Given the description of an element on the screen output the (x, y) to click on. 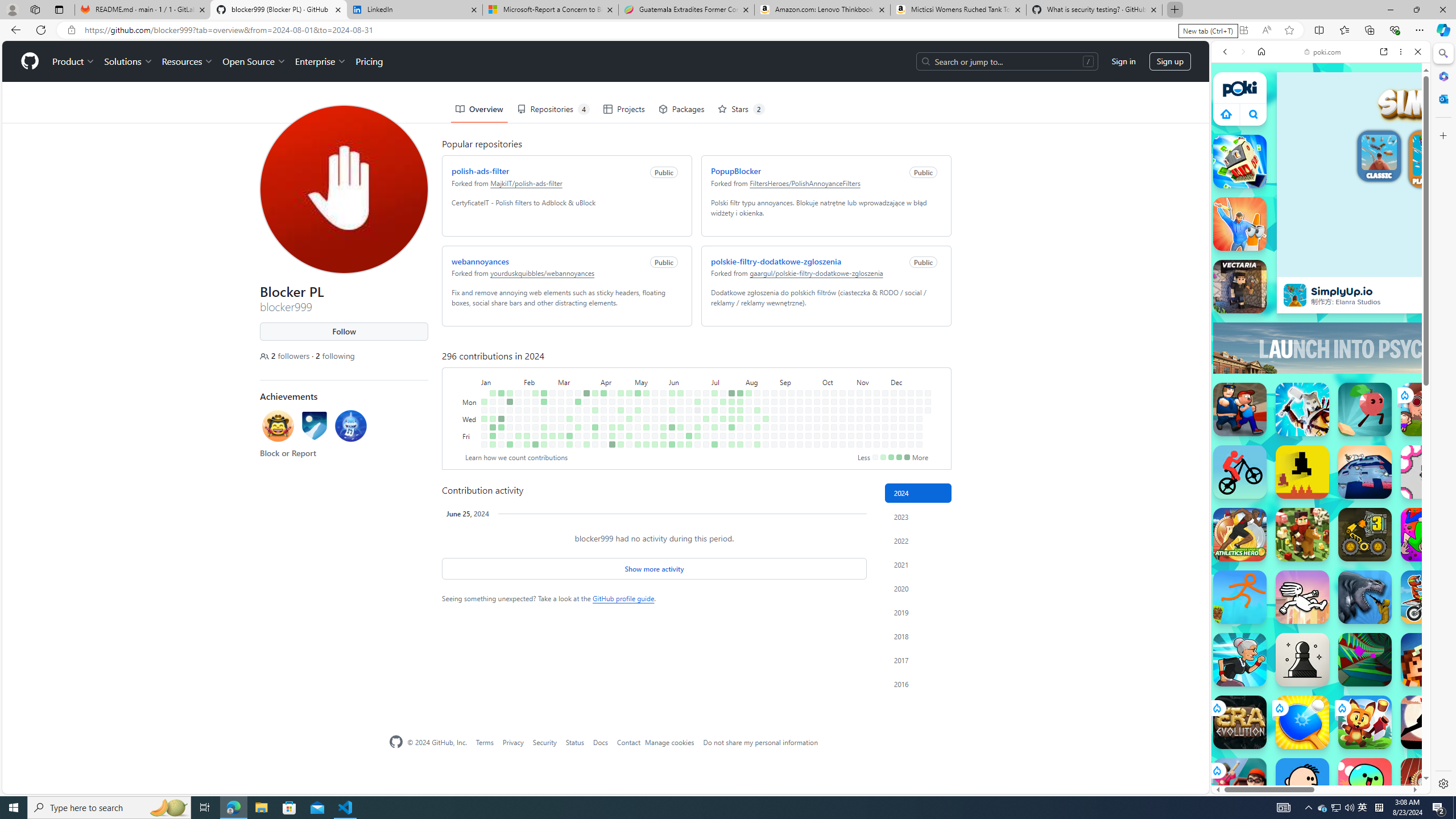
2 contributions on January 21st. (509, 392)
No contributions on July 6th. (706, 444)
No contributions on April 1st. (595, 401)
3 contributions on June 27th. (697, 427)
No contributions on March 11th. (569, 401)
Sharkosaurus Rampage Sharkosaurus Rampage (1364, 597)
No contributions on June 11th. (680, 410)
No contributions on December 19th. (910, 427)
No contributions on August 27th. (774, 410)
No contributions on August 18th. (765, 392)
Manage cookies (669, 741)
No contributions on July 12th. (714, 435)
1 contribution on March 31st. (595, 392)
13 contributions on January 17th. (500, 418)
